Given the description of an element on the screen output the (x, y) to click on. 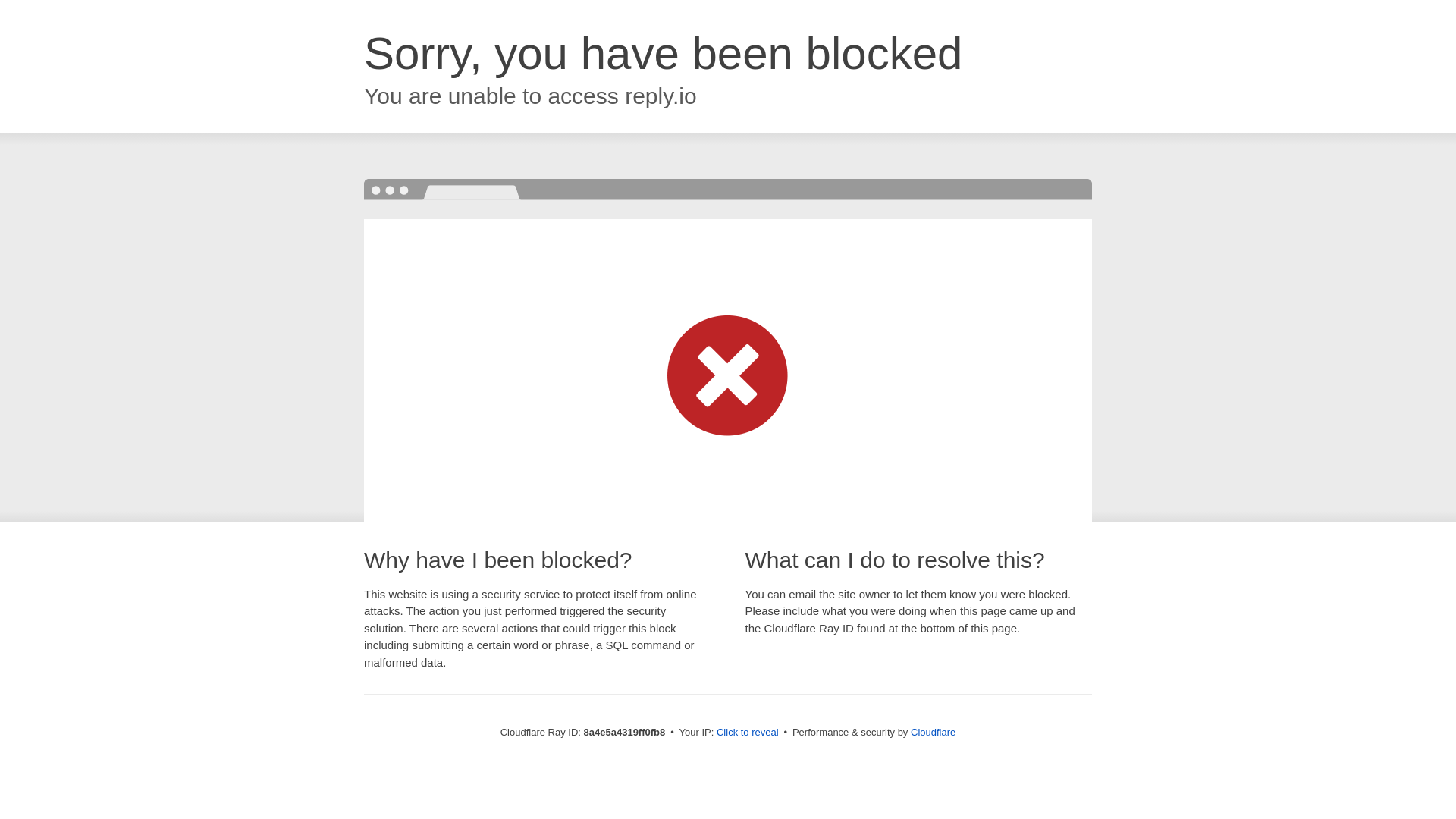
Cloudflare (933, 731)
Click to reveal (747, 732)
